Given the description of an element on the screen output the (x, y) to click on. 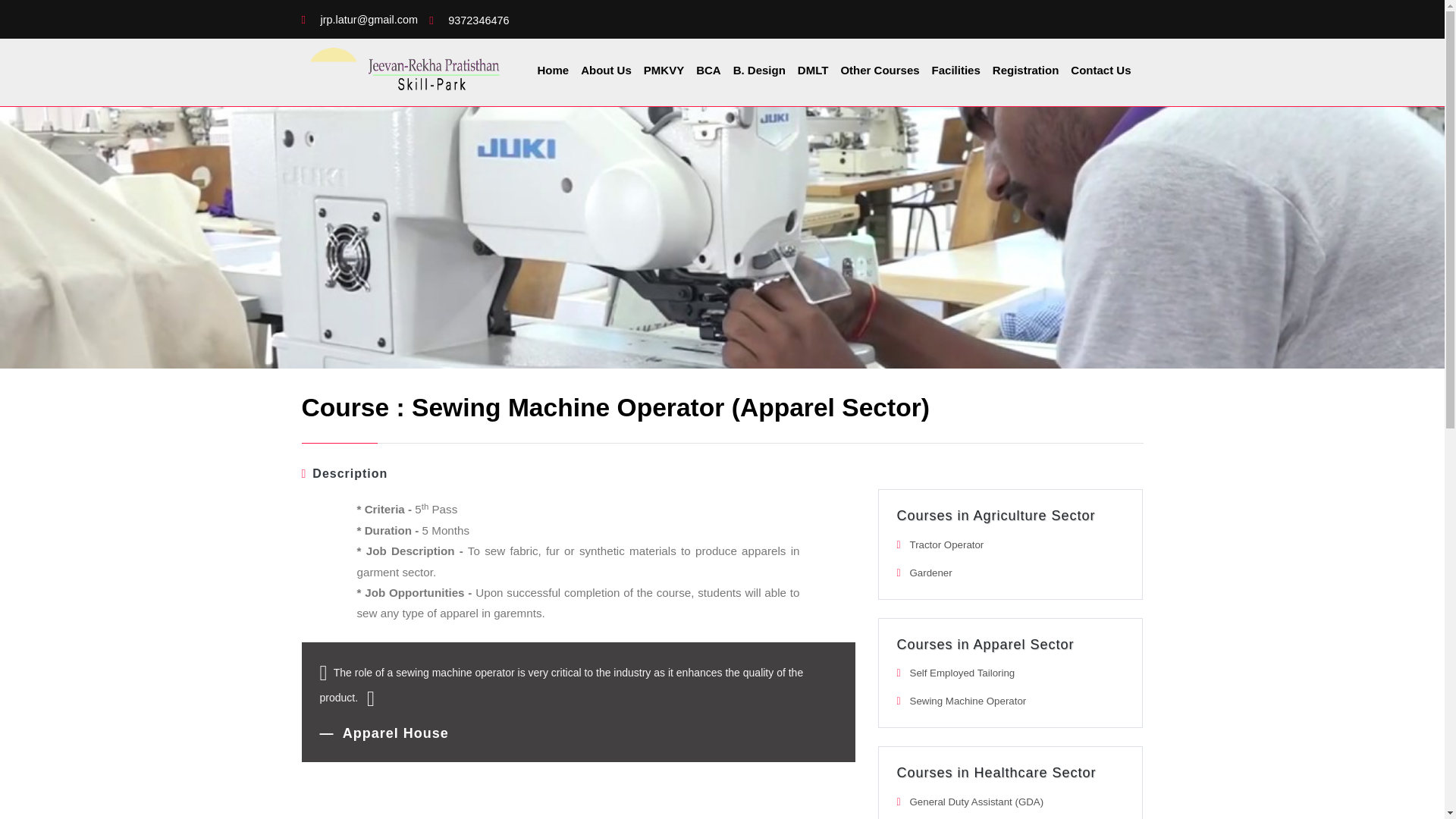
Self Employed Tailoring (962, 672)
About Us (605, 69)
B. Design (759, 69)
Contact Us (1100, 69)
Other Courses (879, 69)
Apparel House (384, 733)
BCA (707, 69)
Gardener (931, 572)
Registration (1025, 69)
Home (553, 69)
